Given the description of an element on the screen output the (x, y) to click on. 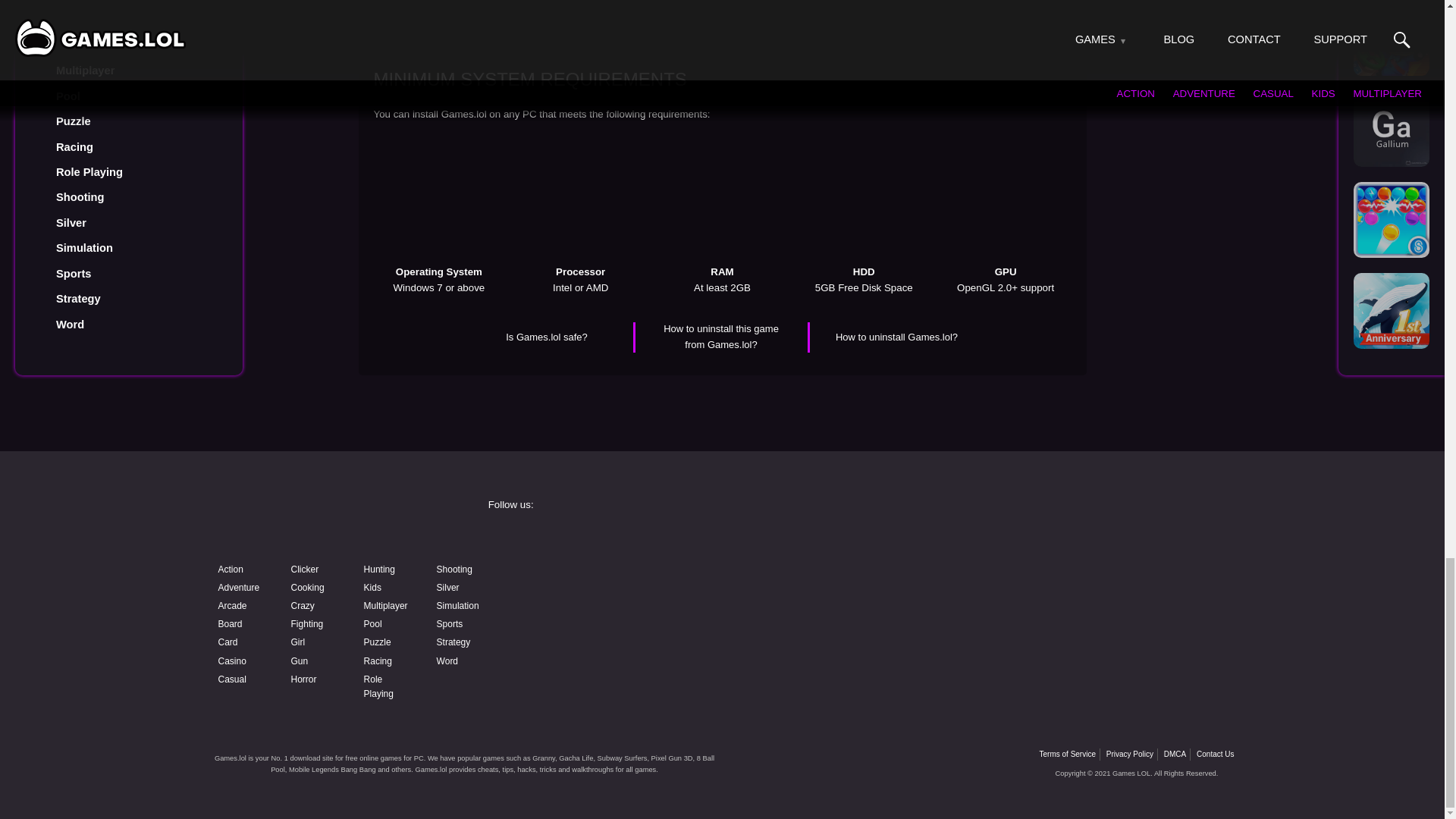
Instagram (838, 540)
Twitter (1073, 540)
Facebook (603, 540)
Games.lol free game download website logo (319, 519)
Discord (838, 579)
YouTube (603, 579)
